Given the description of an element on the screen output the (x, y) to click on. 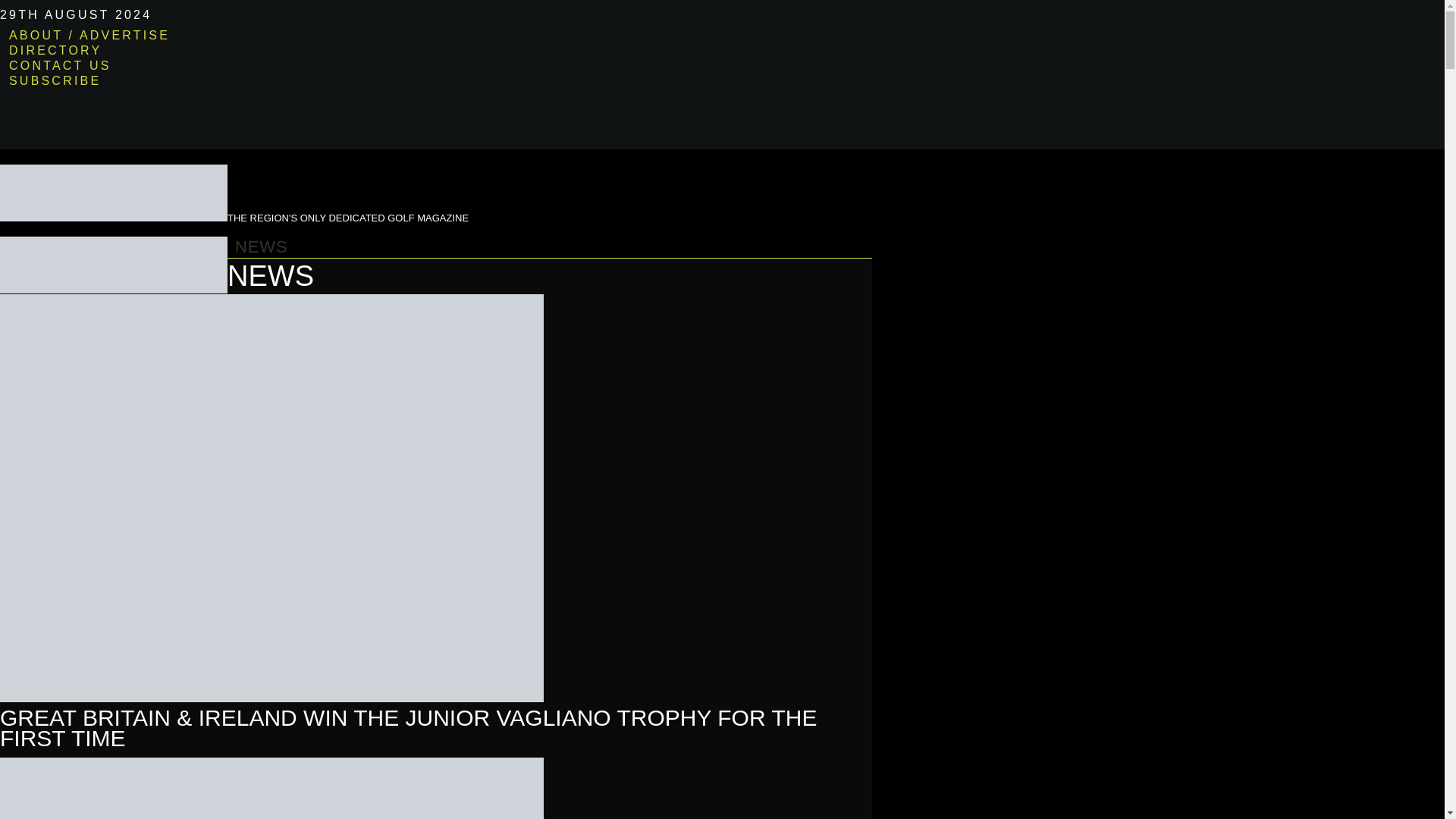
NEWS (261, 250)
DIRECTORY (55, 49)
SUBSCRIBE (55, 79)
CONTACT US (60, 63)
THE REGION'S ONLY DEDICATED GOLF MAGAZINE (234, 192)
